Given the description of an element on the screen output the (x, y) to click on. 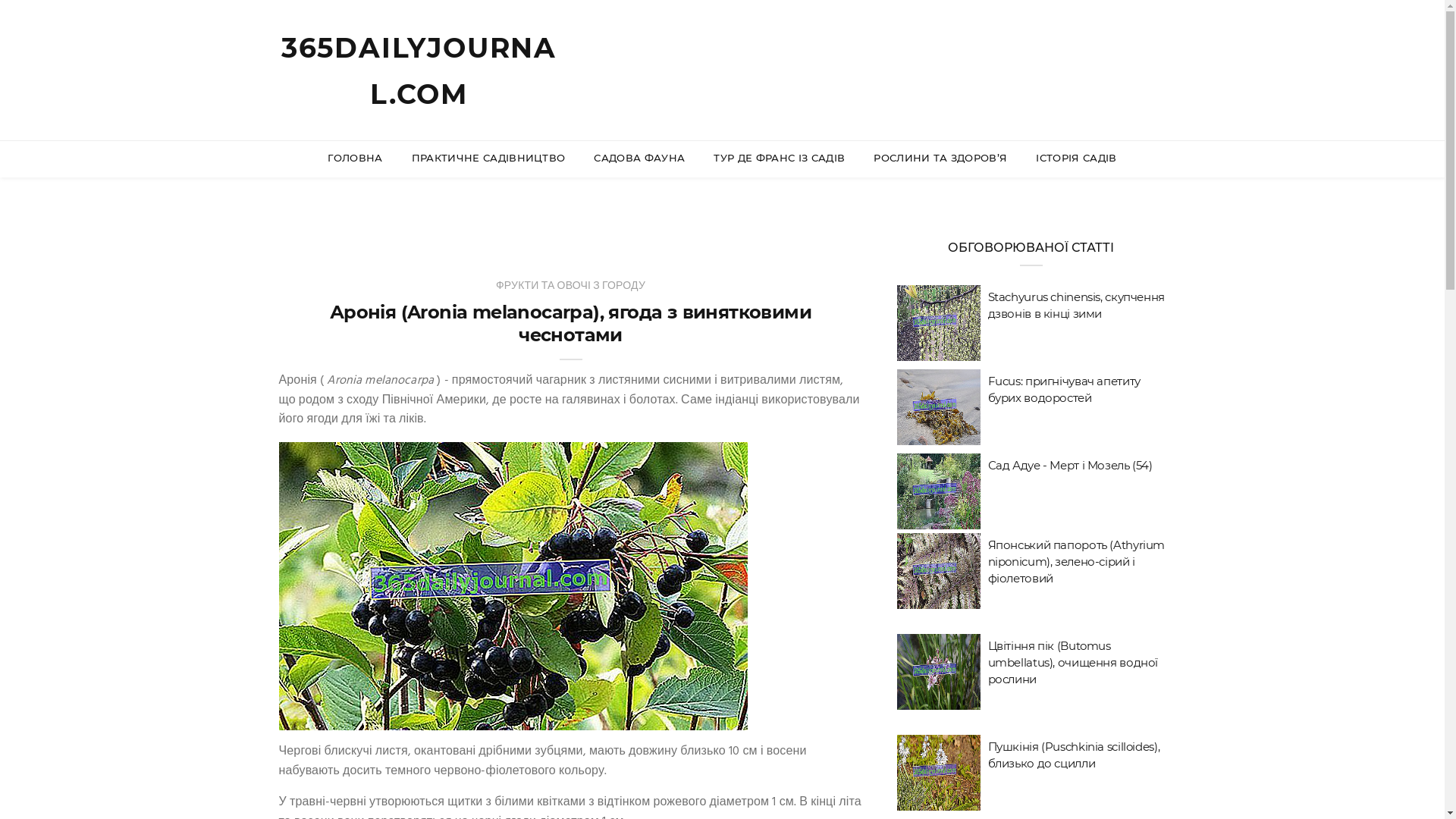
365DAILYJOURNAL.COM Element type: text (418, 70)
